Given the description of an element on the screen output the (x, y) to click on. 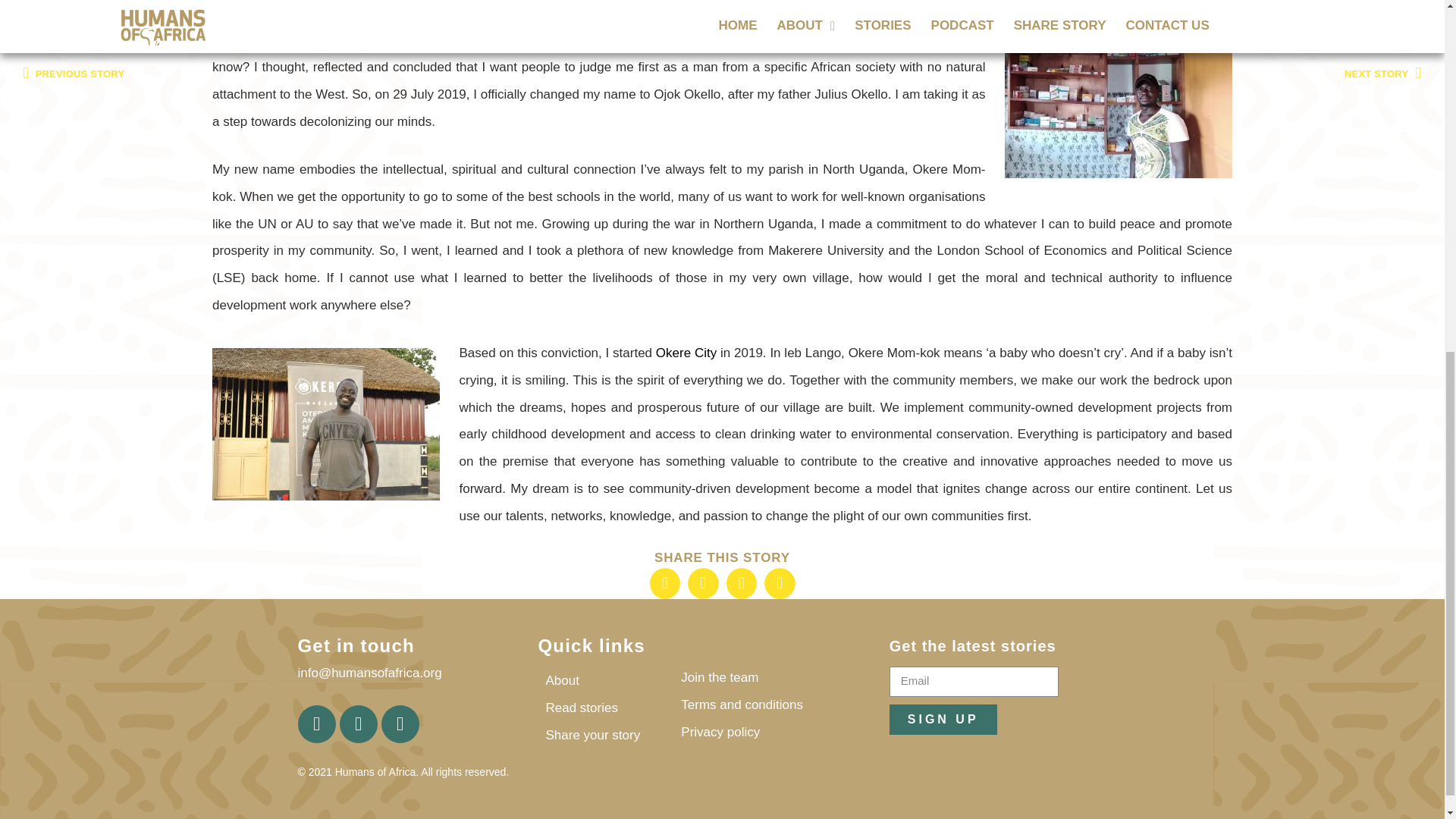
Okere City (686, 352)
About (597, 680)
Share your story (597, 735)
Read stories (597, 708)
